Given the description of an element on the screen output the (x, y) to click on. 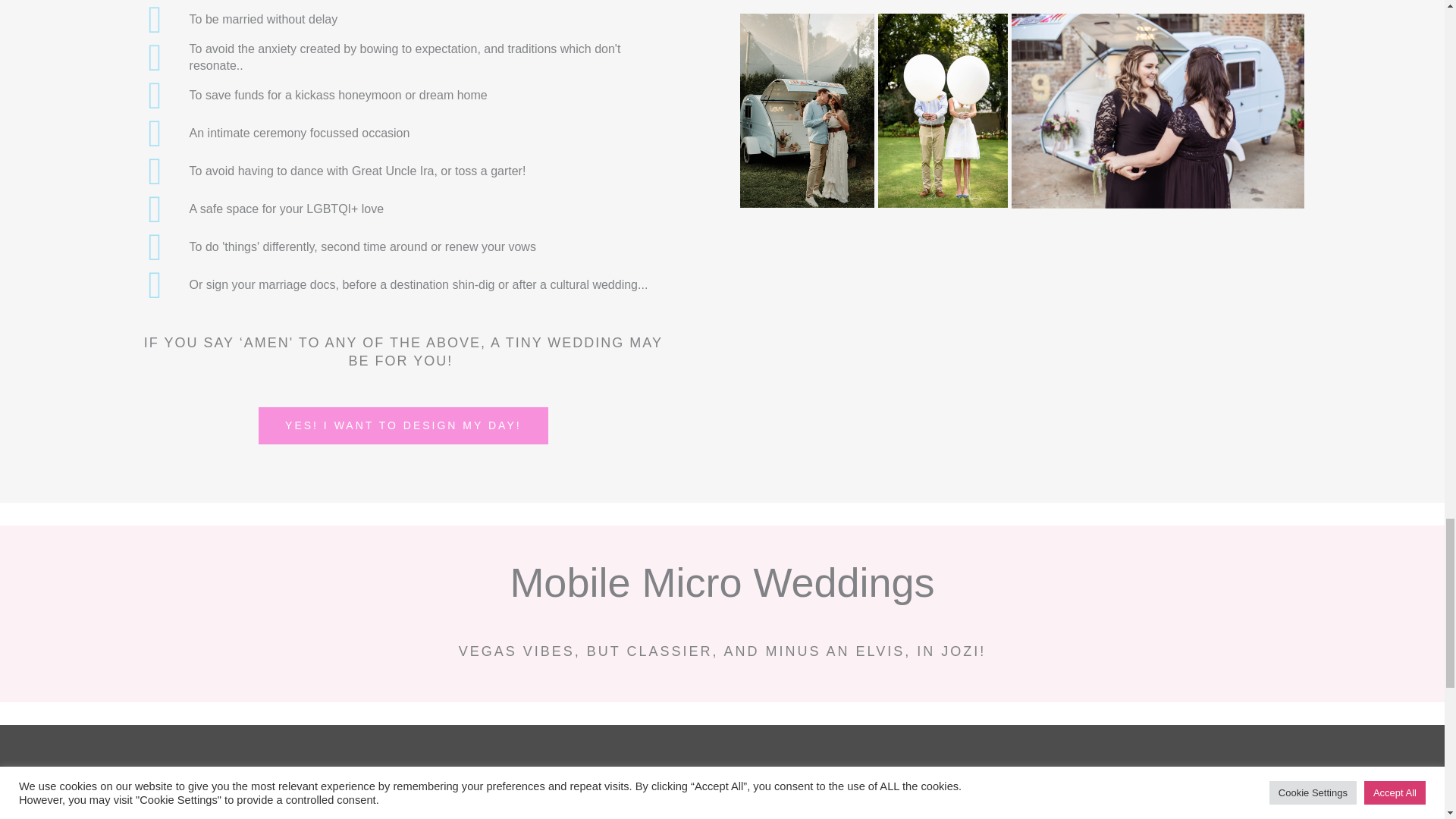
YES! I WANT TO DESIGN MY DAY! (403, 425)
Two brides (1157, 110)
